Given the description of an element on the screen output the (x, y) to click on. 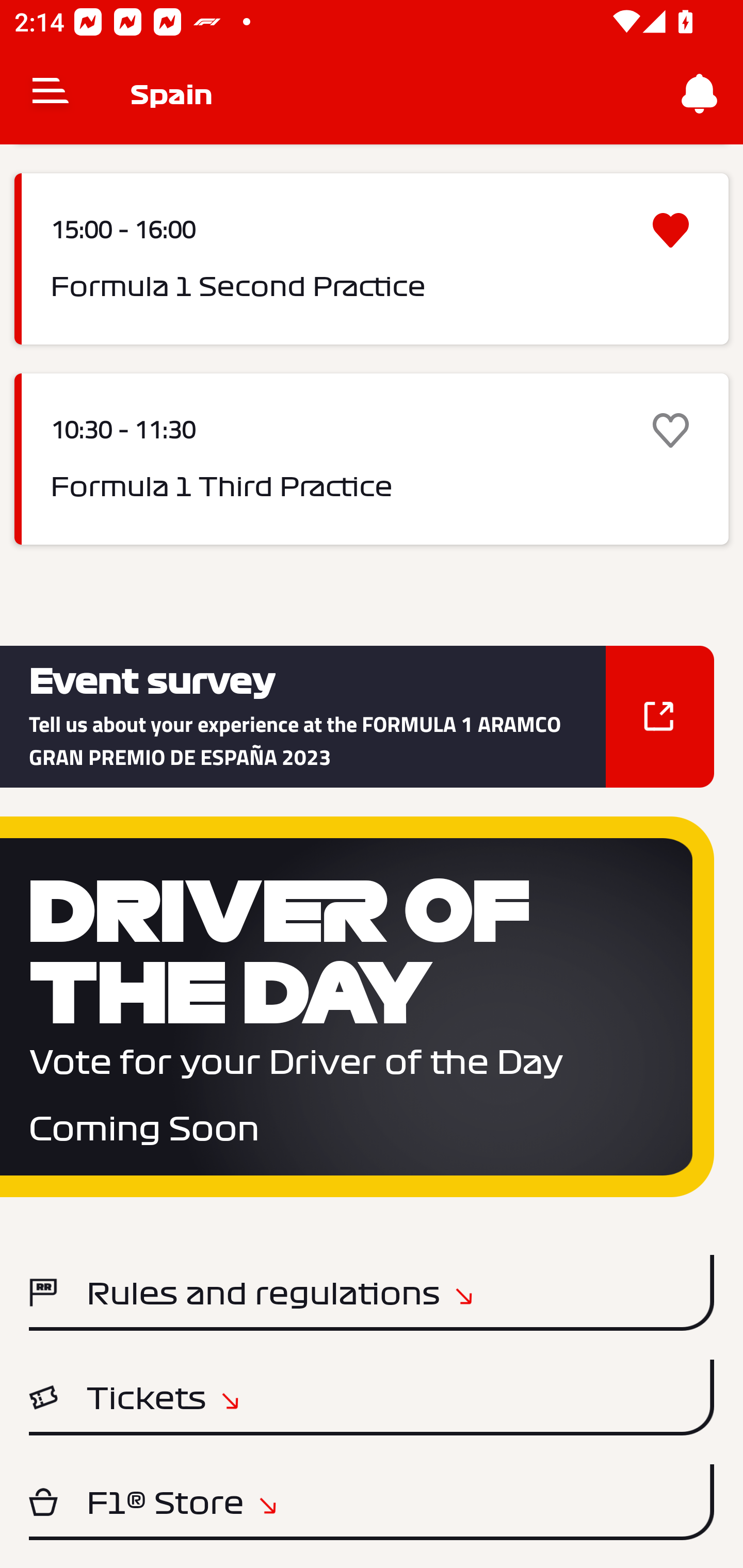
Navigate up (50, 93)
Notifications (699, 93)
15:00 - 16:00 Formula 1 Second Practice (371, 259)
10:30 - 11:30 Formula 1 Third Practice (371, 458)
Rules and regulations (371, 1292)
Tickets (371, 1396)
F1® Store (371, 1501)
